Given the description of an element on the screen output the (x, y) to click on. 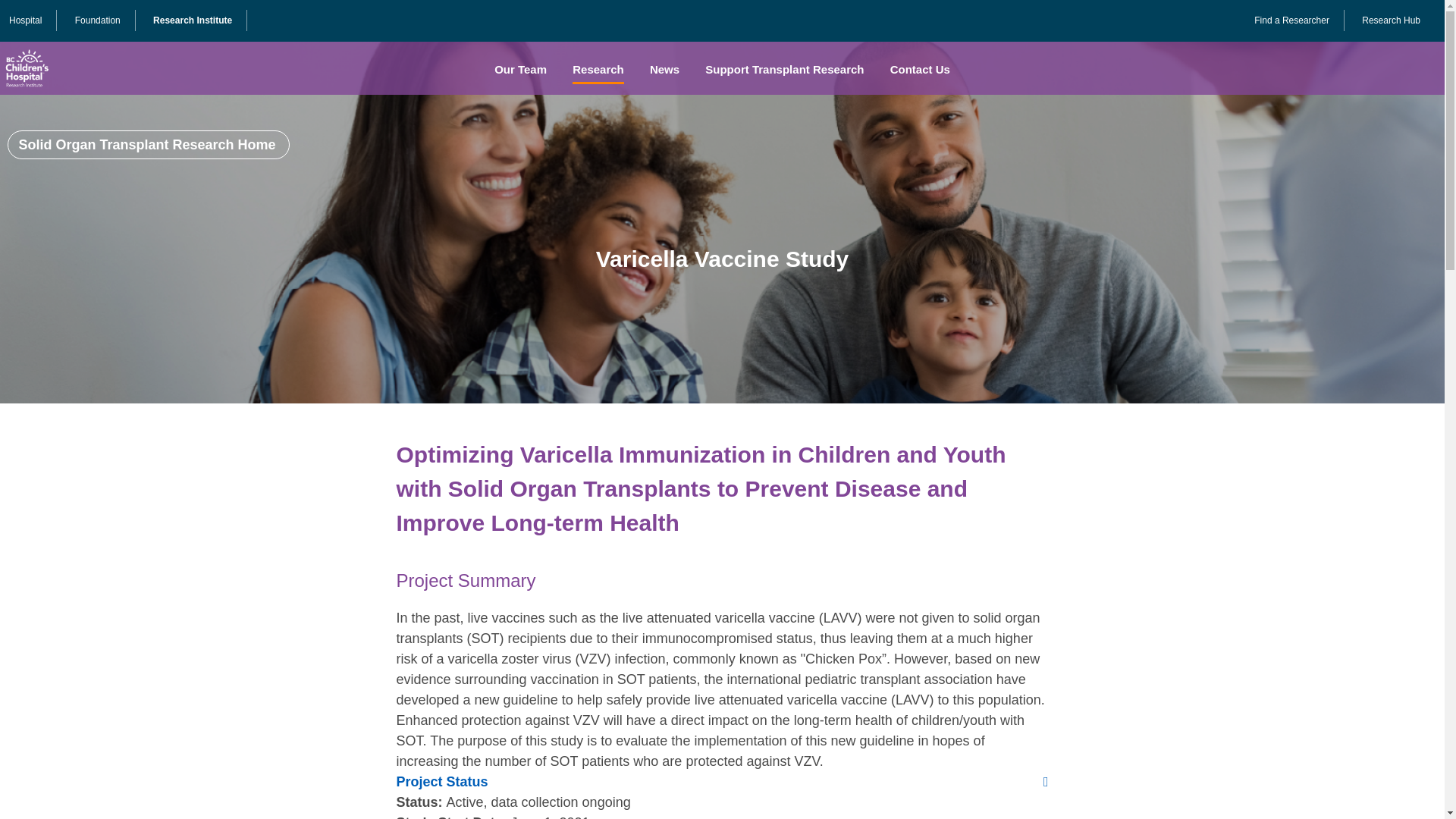
News (664, 69)
Hospital (25, 20)
Research Institute (191, 20)
Home (26, 68)
Solid Organ Transplant Research Home (148, 144)
Our Team (521, 69)
Contact Us (919, 69)
Research (598, 69)
Support Transplant Research (783, 69)
ResearchHub (1391, 20)
Foundation (97, 20)
Research Hub (1391, 20)
Find a Researcher (1291, 20)
